Given the description of an element on the screen output the (x, y) to click on. 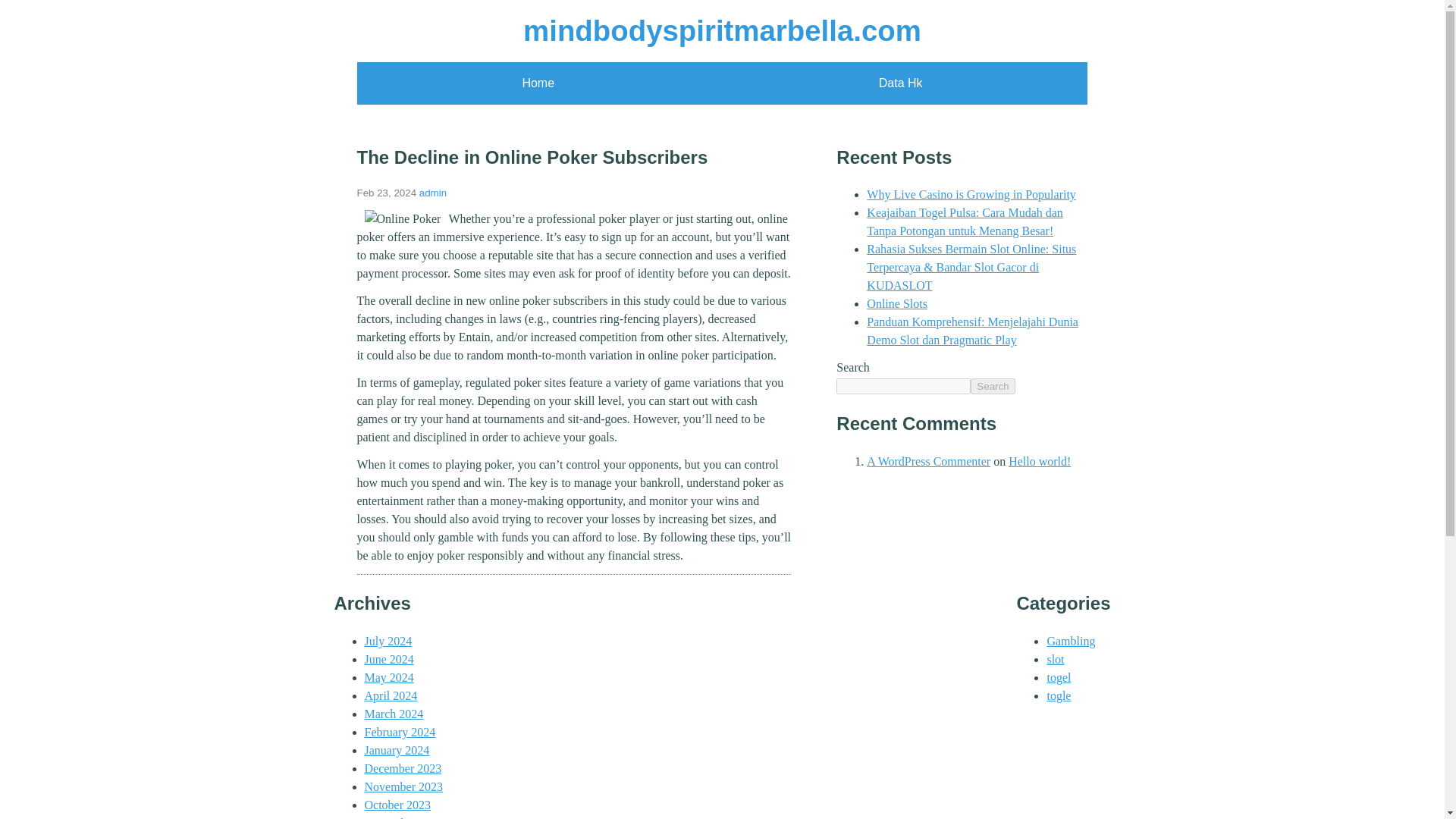
Hello world! (1039, 461)
Online Slots (896, 303)
July 2024 (388, 640)
April 2024 (390, 695)
admin (432, 193)
mindbodyspiritmarbella.com (721, 30)
A WordPress Commenter (928, 461)
May 2024 (388, 676)
January 2024 (396, 749)
March 2024 (393, 713)
November 2023 (403, 786)
Search (992, 385)
Data Hk (901, 82)
